Given the description of an element on the screen output the (x, y) to click on. 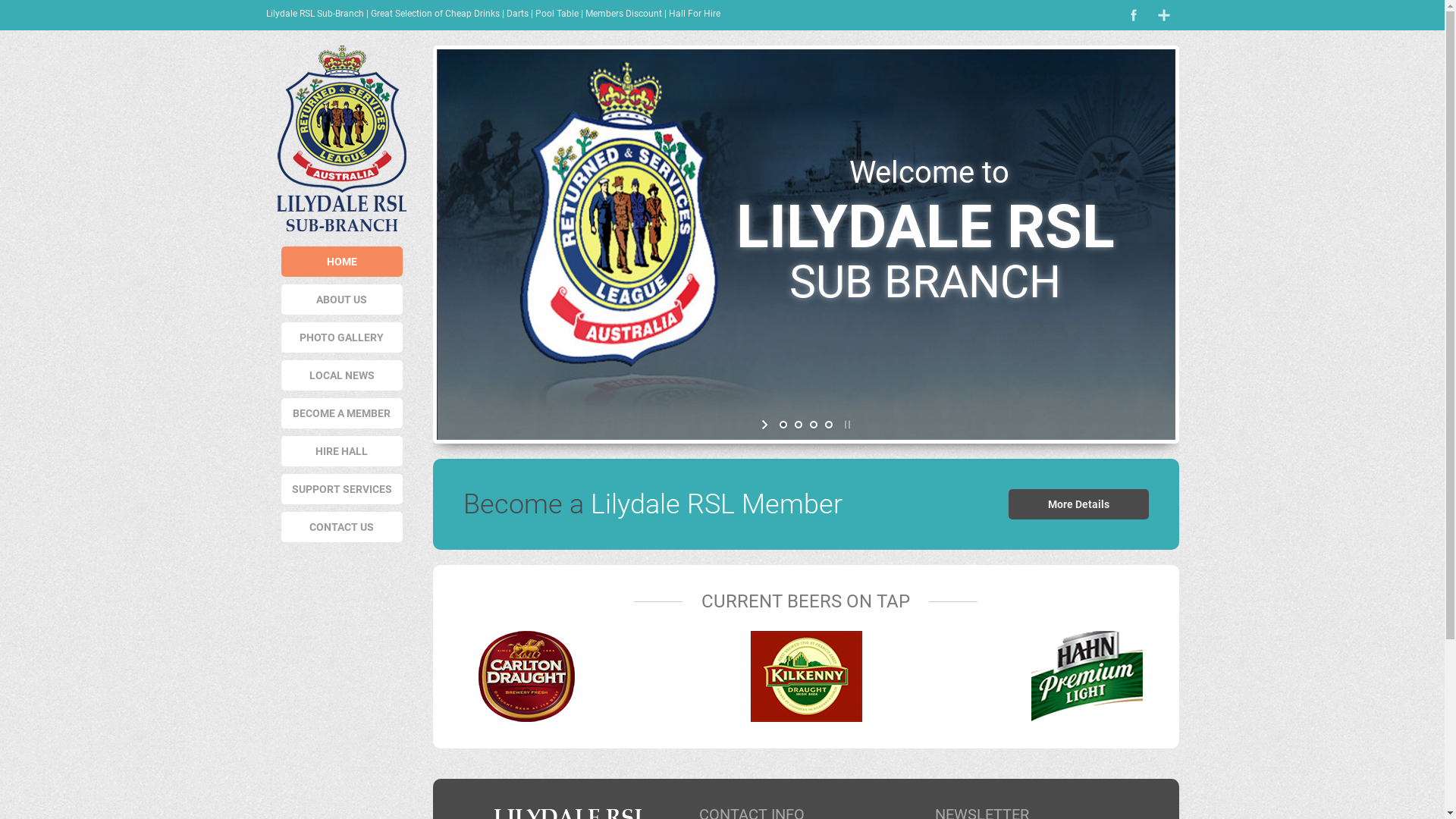
ABOUT US Element type: text (340, 299)
CONTACT US Element type: text (340, 526)
SUPPORT SERVICES Element type: text (340, 488)
Visit Our FaceBook Page Element type: hover (1132, 15)
HIRE HALL Element type: text (340, 451)
PHOTO GALLERY Element type: text (340, 337)
BECOME A MEMBER Element type: text (340, 413)
LOCAL NEWS Element type: text (340, 375)
Visit Our Google+ Page Element type: hover (1163, 15)
HOME Element type: text (340, 261)
More Details Element type: text (1078, 504)
